Given the description of an element on the screen output the (x, y) to click on. 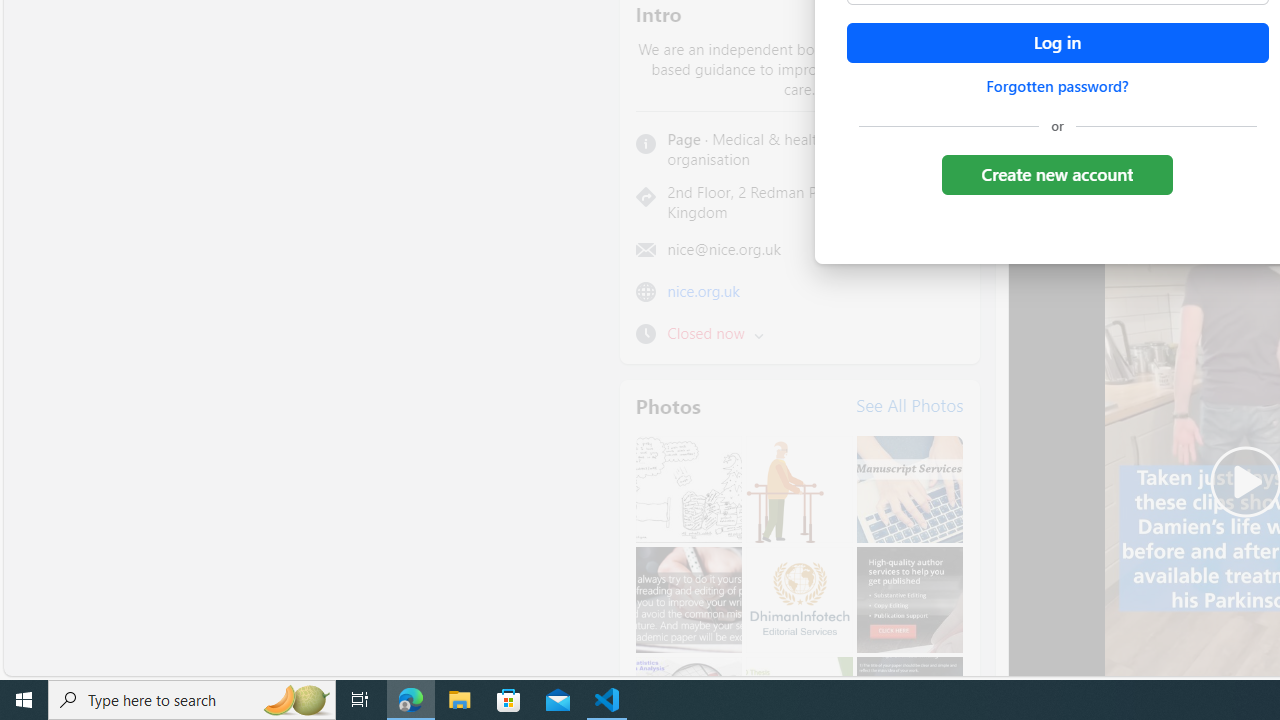
Create new account (1056, 174)
Accessible login button (1057, 43)
Forgotten password? (1057, 85)
